Given the description of an element on the screen output the (x, y) to click on. 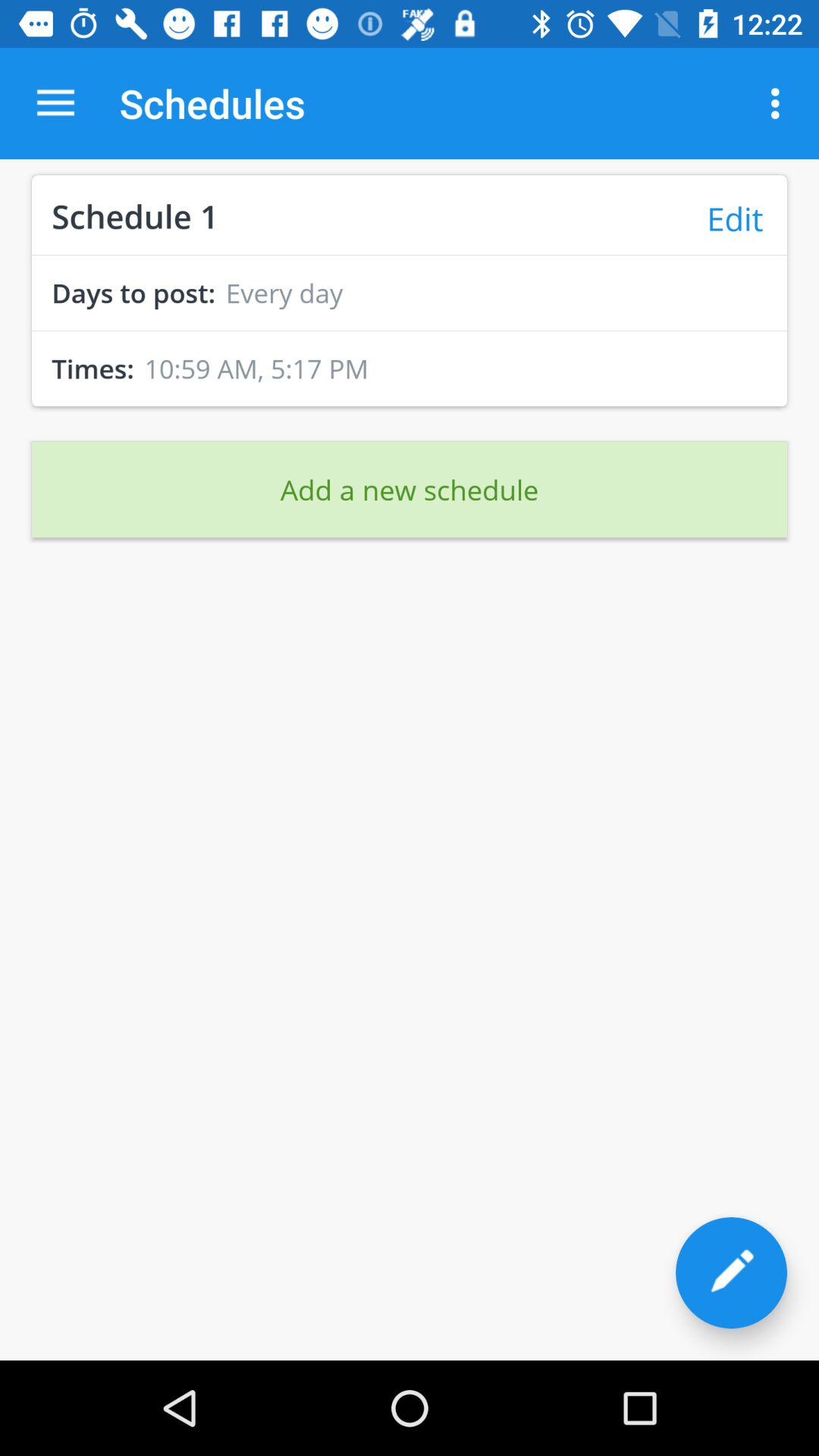
scroll to the edit (735, 218)
